Given the description of an element on the screen output the (x, y) to click on. 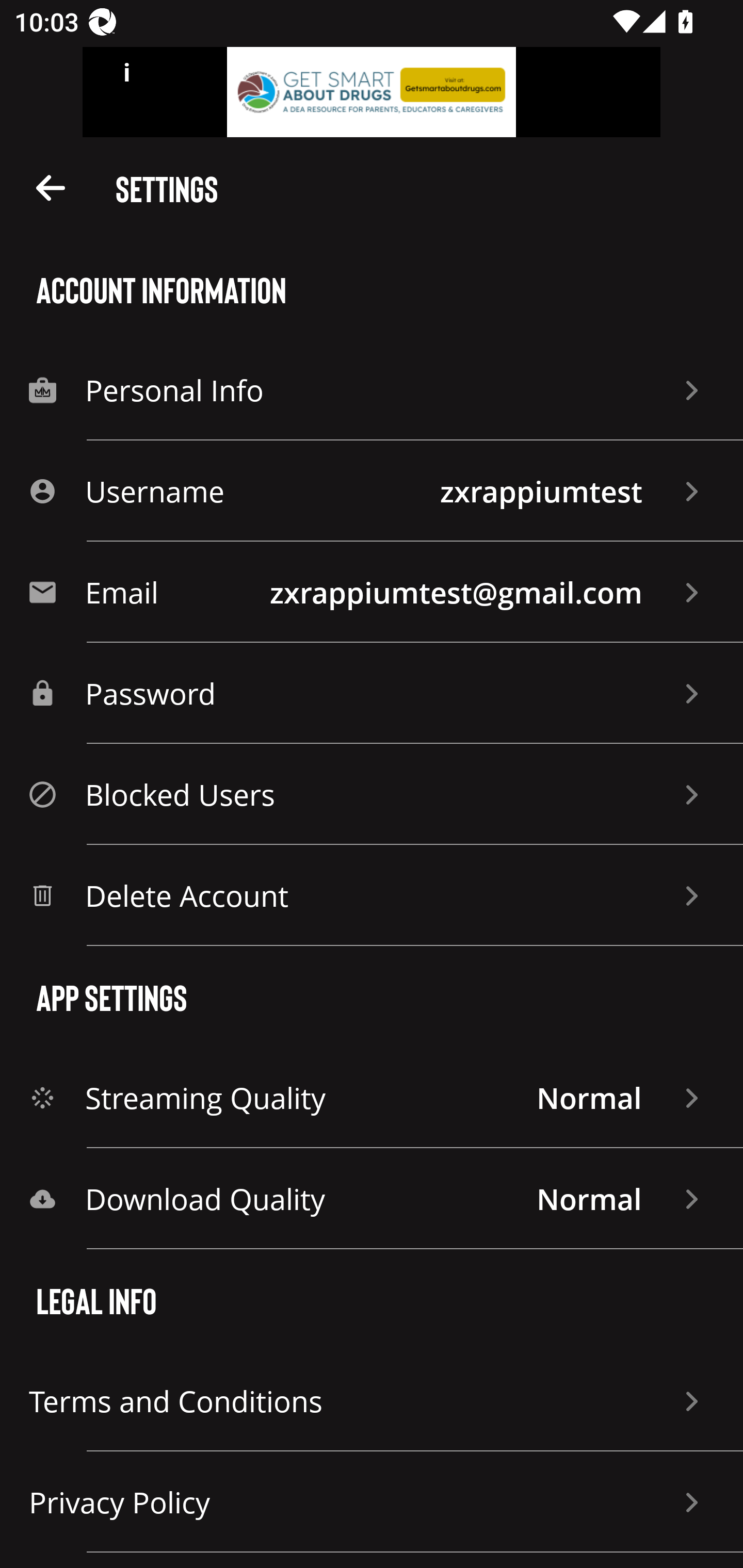
Description (50, 187)
Personal Info (371, 389)
Username zxrappiumtest (371, 490)
Email zxrappiumtest@gmail.com (371, 591)
Password (371, 692)
Blocked Users (371, 794)
Delete Account (371, 895)
Streaming Quality Normal (371, 1097)
Download Quality Normal (371, 1198)
Terms and Conditions (371, 1400)
Privacy Policy (371, 1501)
